Given the description of an element on the screen output the (x, y) to click on. 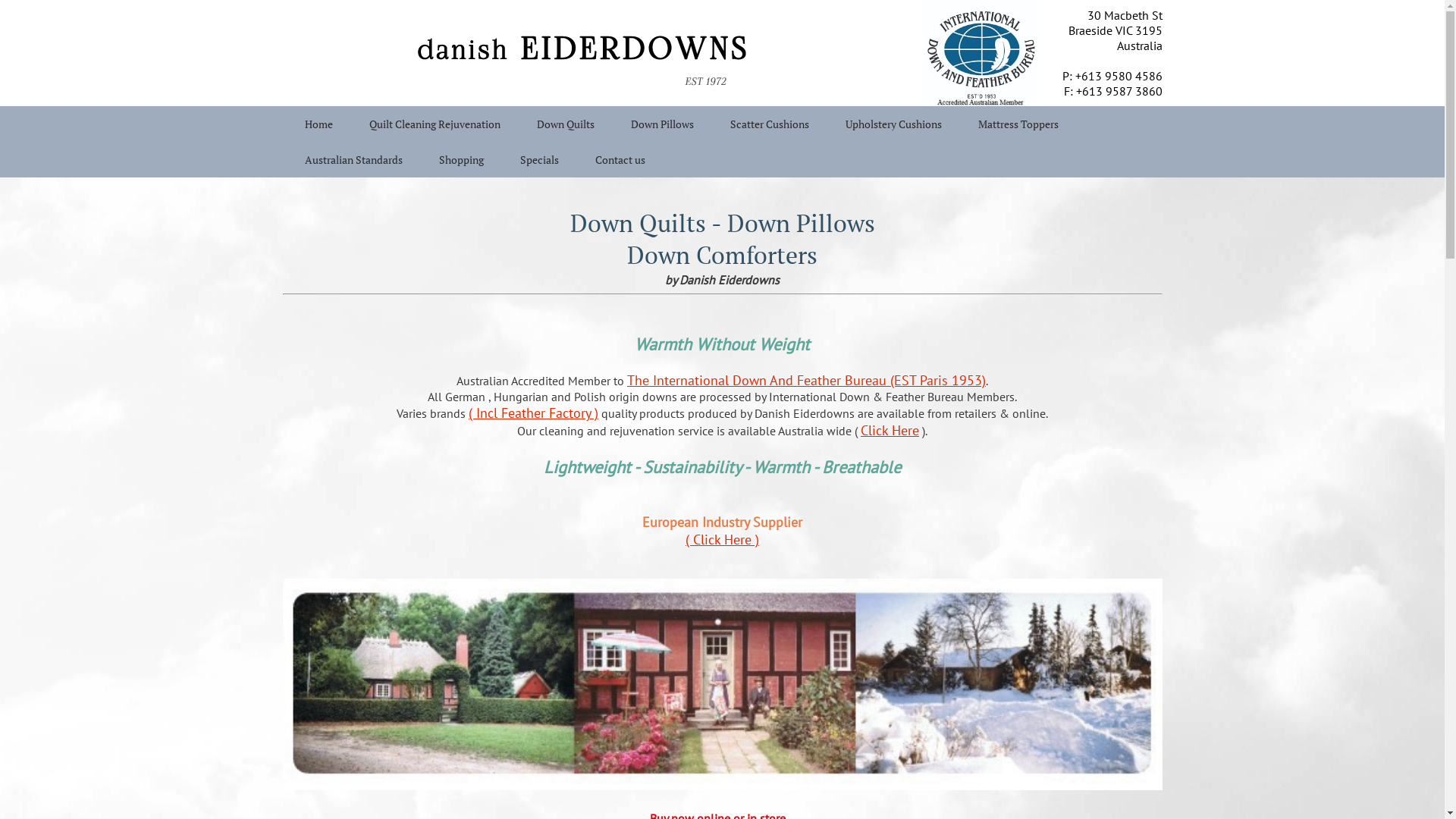
Specials Element type: text (539, 159)
The International Down And Feather Bureau (EST Paris 1953) Element type: text (806, 380)
Quilt Cleaning Rejuvenation Element type: text (433, 123)
Home Element type: text (318, 123)
( Click Here ) Element type: text (722, 539)
Click Here Element type: text (889, 430)
Contact us Element type: text (619, 159)
Shopping Element type: text (460, 159)
Down Quilts Element type: text (565, 123)
Upholstery Cushions Element type: text (892, 123)
( Incl Feather Factory ) Element type: text (533, 412)
Australian Standards Element type: text (353, 159)
Mattress Toppers Element type: text (1018, 123)
Down Pillows Element type: text (662, 123)
Scatter Cushions Element type: text (768, 123)
